Given the description of an element on the screen output the (x, y) to click on. 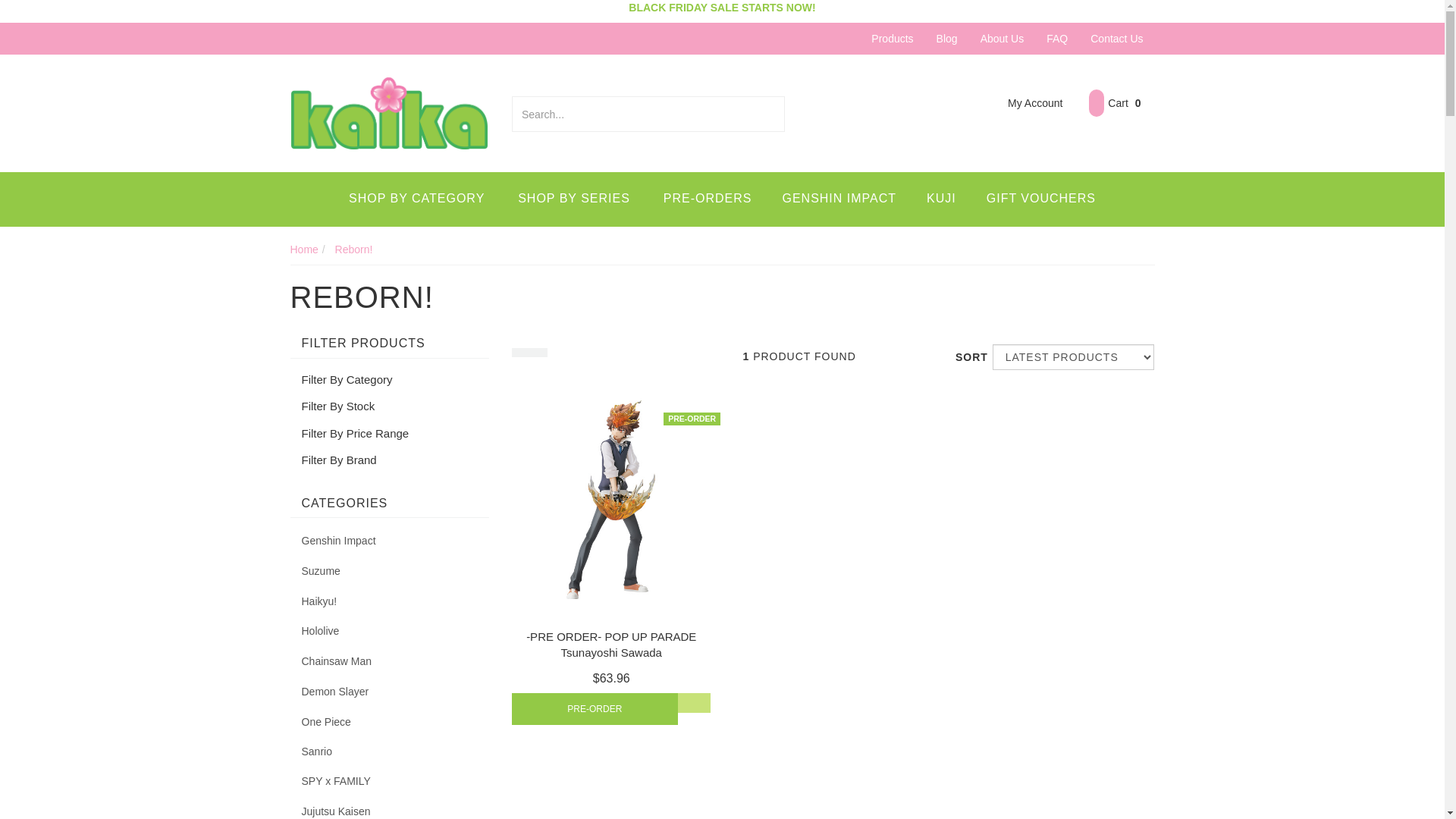
Demon Slayer Element type: text (389, 691)
About Us Element type: text (1002, 38)
Genshin Impact Element type: text (389, 540)
FAQ Element type: text (1057, 38)
GIFT VOUCHERS Element type: text (1040, 199)
PRE-ORDER Element type: text (594, 708)
-PRE ORDER- POP UP PARADE Tsunayoshi Sawada Element type: text (611, 644)
FILTER PRODUCTS Element type: text (389, 343)
BLACK FRIDAY SALE STARTS NOW! Element type: text (721, 7)
Haikyu! Element type: text (389, 601)
PRE-ORDERS Element type: text (707, 199)
SHOP BY CATEGORY Element type: text (416, 199)
Contact Us Element type: text (1116, 38)
Anime Kaika Element type: hover (389, 112)
My Account Element type: text (1023, 103)
Blog Element type: text (947, 38)
Reborn! Element type: text (354, 249)
Sanrio Element type: text (389, 751)
Chainsaw Man Element type: text (389, 661)
KUJI Element type: text (941, 199)
Suzume Element type: text (389, 570)
Cart 0 Element type: text (1114, 103)
Home Element type: text (303, 249)
One Piece Element type: text (389, 721)
Hololive Element type: text (389, 630)
GENSHIN IMPACT Element type: text (838, 199)
SPY x FAMILY Element type: text (389, 780)
Products Element type: text (891, 38)
SHOP BY SERIES Element type: text (573, 199)
Search Element type: text (774, 114)
